Given the description of an element on the screen output the (x, y) to click on. 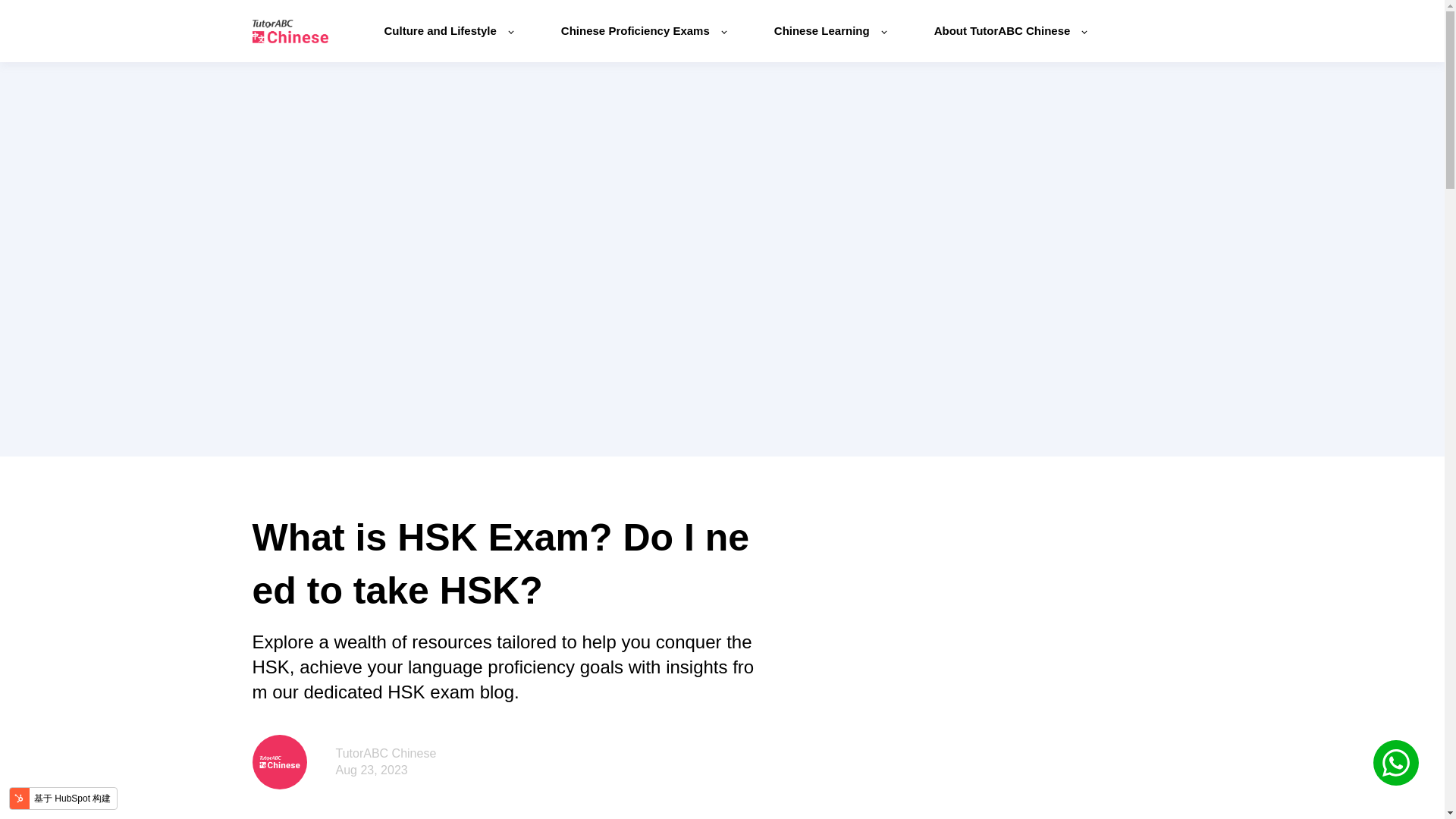
TutorABC Chinese (384, 753)
About TutorABC Chinese (1010, 30)
Chinese Proficiency Exams (642, 30)
Chinese Learning (829, 30)
Contact us on WhatsApp (1395, 762)
Culture and Lifestyle (448, 30)
